Given the description of an element on the screen output the (x, y) to click on. 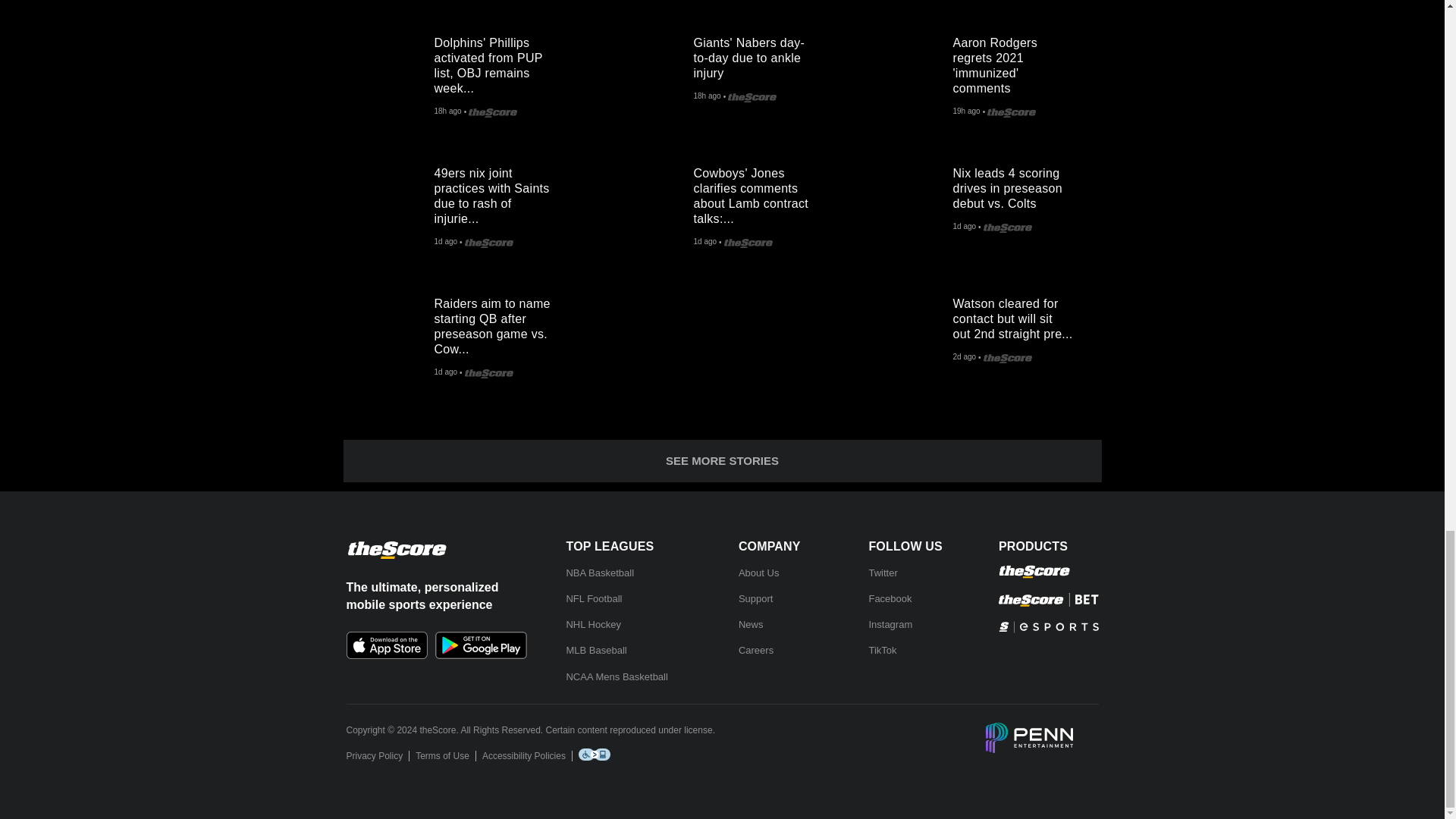
2024-08-12T12:53:22.000Z (965, 112)
2024-08-12T13:56:28.000Z (706, 96)
2024-08-12T14:33:48.000Z (447, 112)
Giants' Nabers day-to-day due to ankle injury (647, 69)
